Given the description of an element on the screen output the (x, y) to click on. 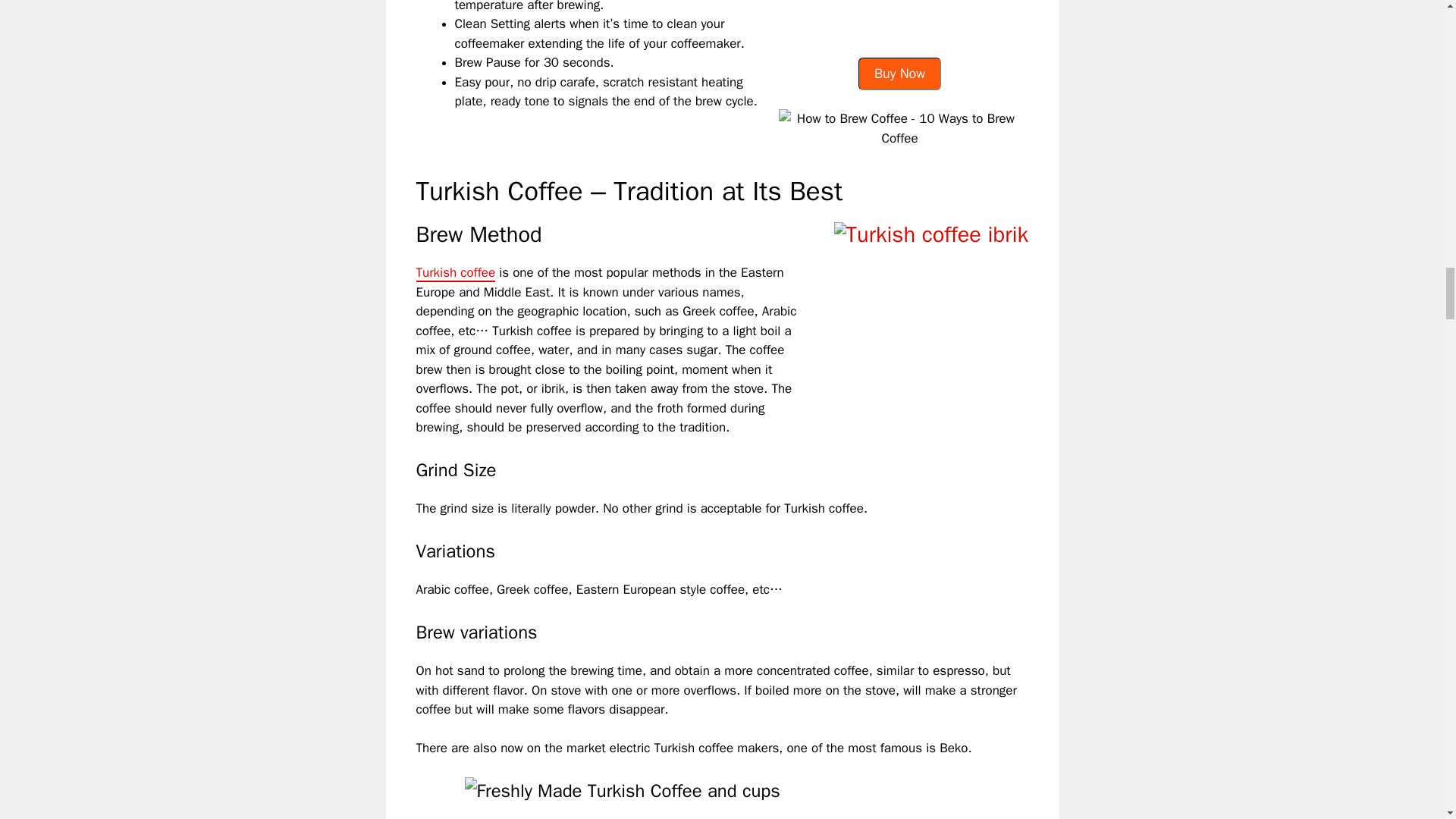
Turkish coffee (454, 272)
Cuisinart DCC-1200 Coffee Maker (899, 22)
Buy Now (899, 74)
